Given the description of an element on the screen output the (x, y) to click on. 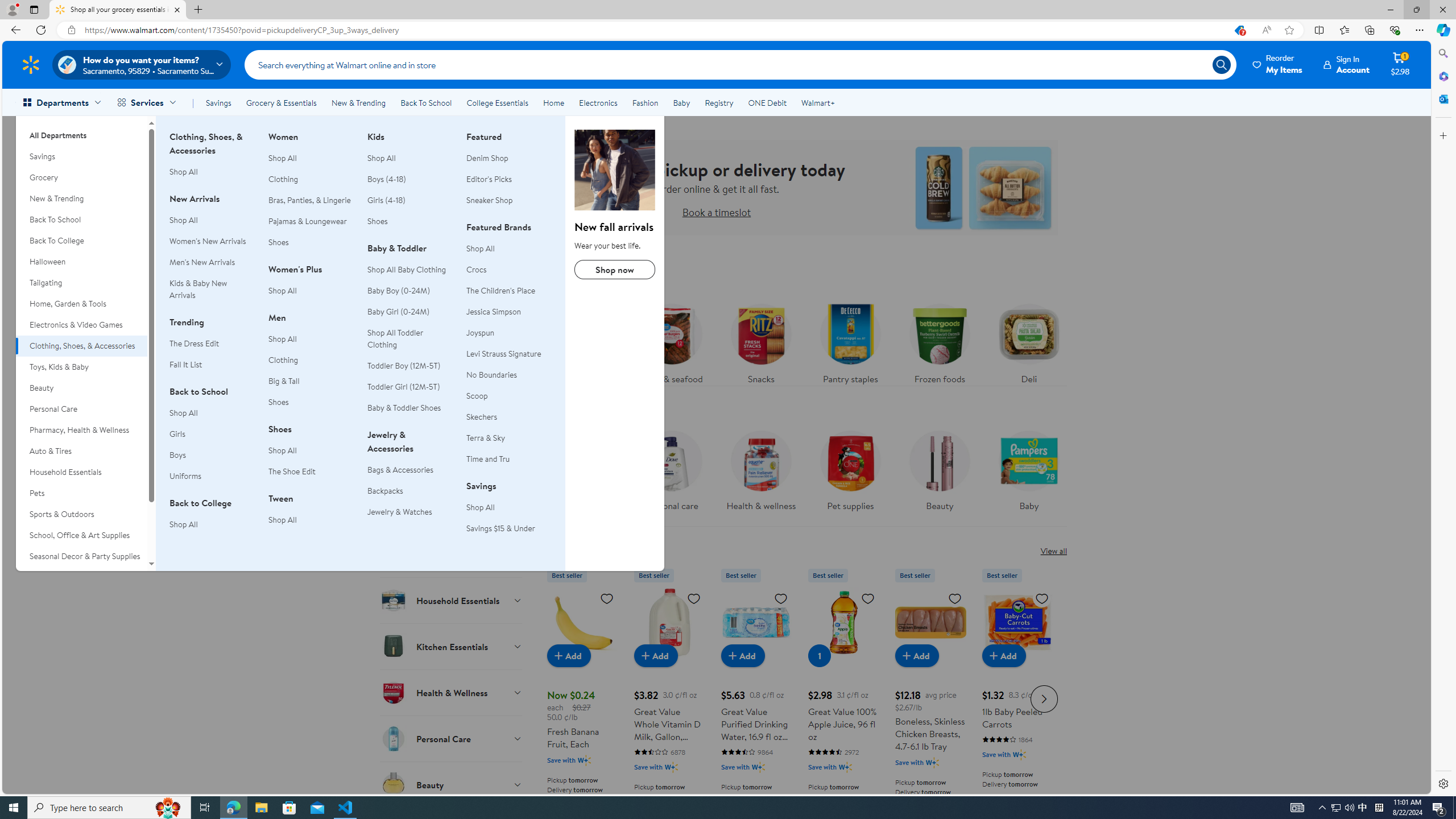
Personal care (671, 467)
Scoop (476, 395)
Girls (4-18) (386, 199)
College Essentials (496, 102)
ReorderMy Items (1277, 64)
Men's New Arrivals (211, 262)
TweenShop All (310, 515)
All Departments (81, 130)
Household essentials (582, 473)
